Given the description of an element on the screen output the (x, y) to click on. 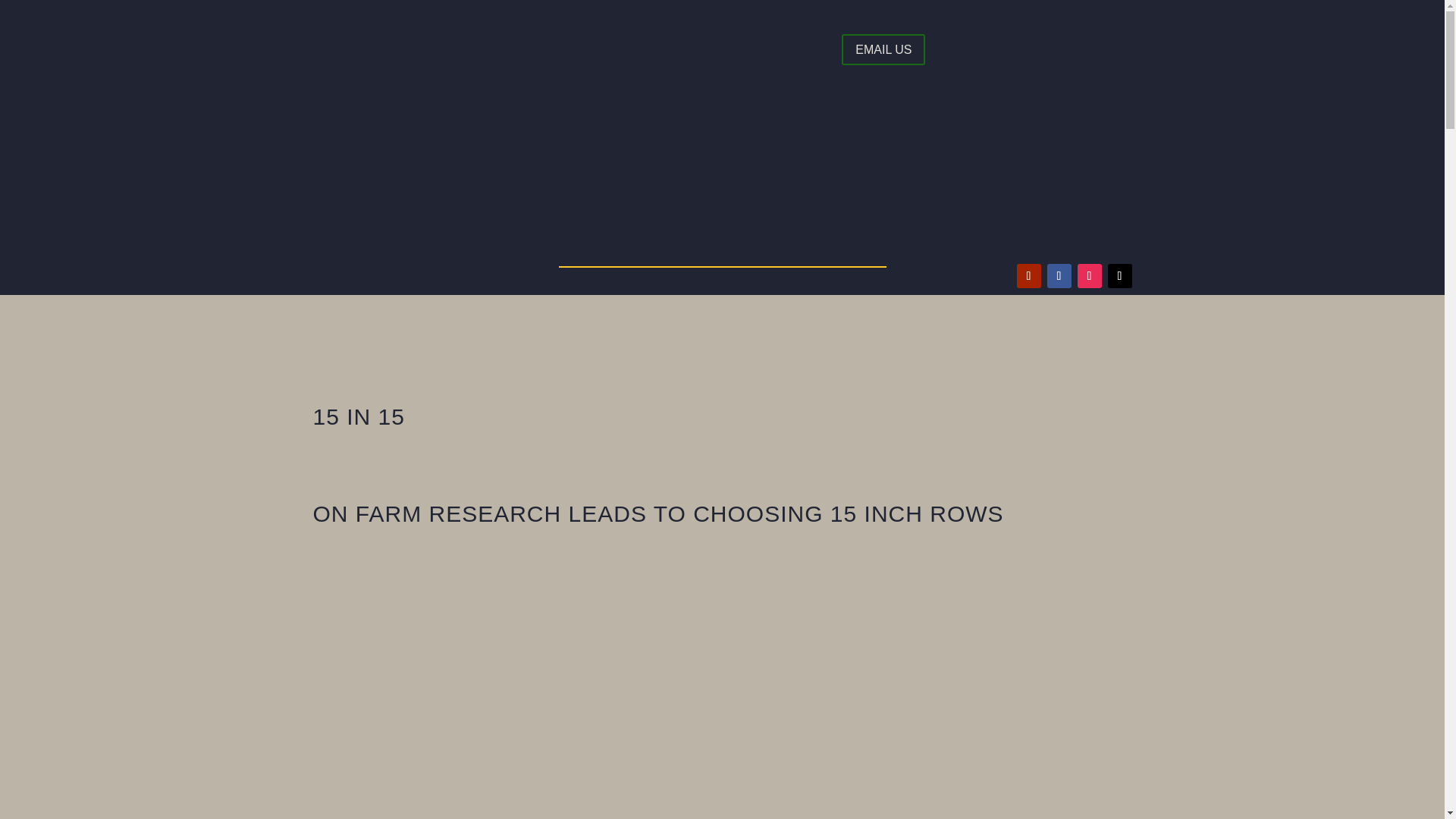
Follow on Facebook (1058, 275)
Follow on Instagram (1088, 275)
EMAIL US (882, 49)
Follow on Youtube (1028, 275)
Follow on TikTok (1118, 275)
